Given the description of an element on the screen output the (x, y) to click on. 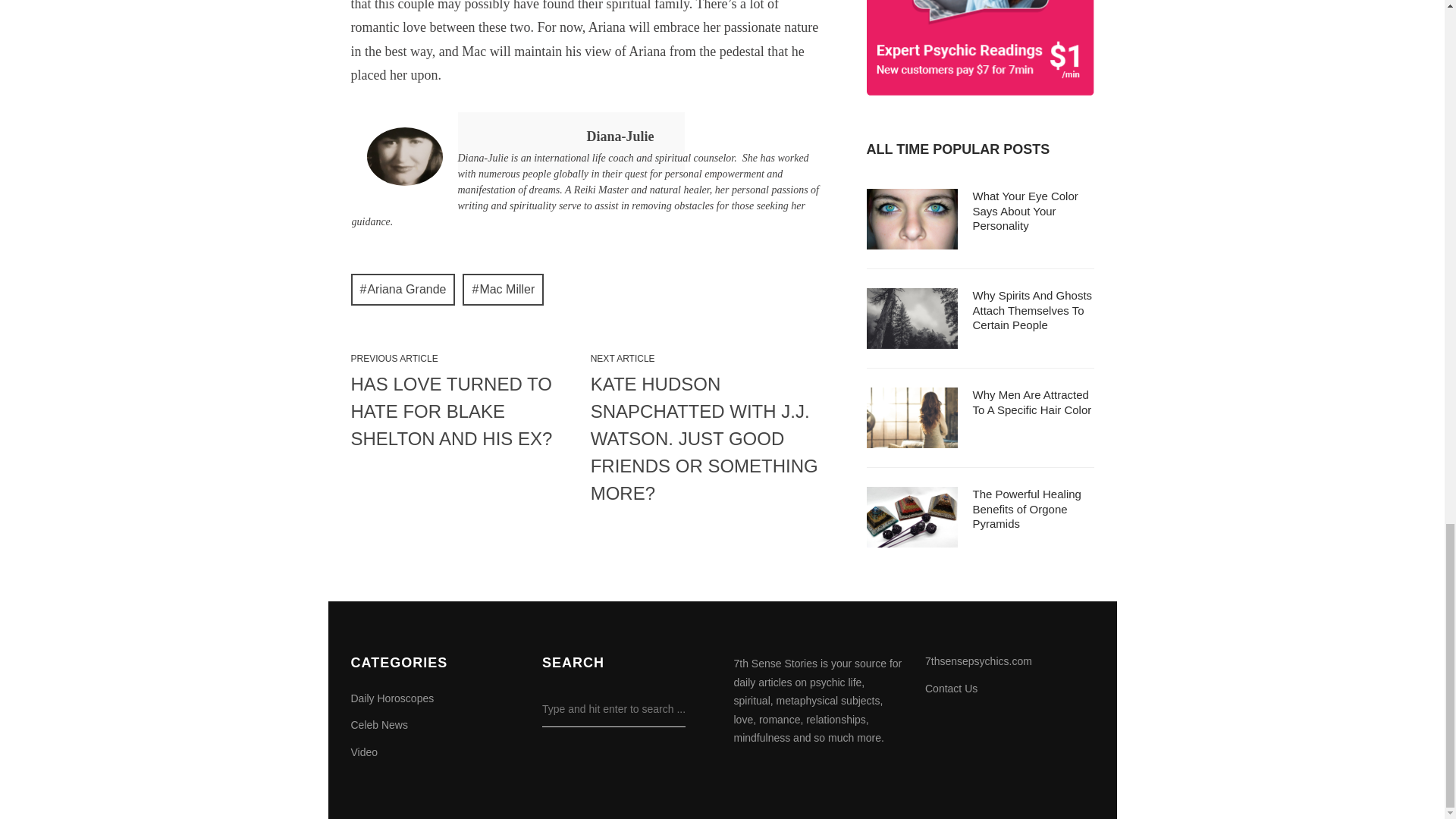
Why Spirits And Ghosts Attach Themselves To Certain People (1032, 310)
What Your Eye Color Says About Your Personality (1024, 210)
Type and hit enter to search ... (613, 709)
Mac Miller (503, 289)
View The Powerful Healing Benefits of Orgone Pyramids (1026, 508)
Type and hit enter to search ... (613, 709)
HAS LOVE TURNED TO HATE FOR BLAKE SHELTON AND HIS EX? (465, 411)
The Powerful Healing Benefits of Orgone Pyramids (1026, 508)
View Why Men Are Attracted To A Specific Hair Color (1031, 402)
Ariana Grande (402, 289)
View What Your Eye Color Says About Your Personality (1024, 210)
Diana-Julie (571, 136)
Why Men Are Attracted To A Specific Hair Color (1031, 402)
